Given the description of an element on the screen output the (x, y) to click on. 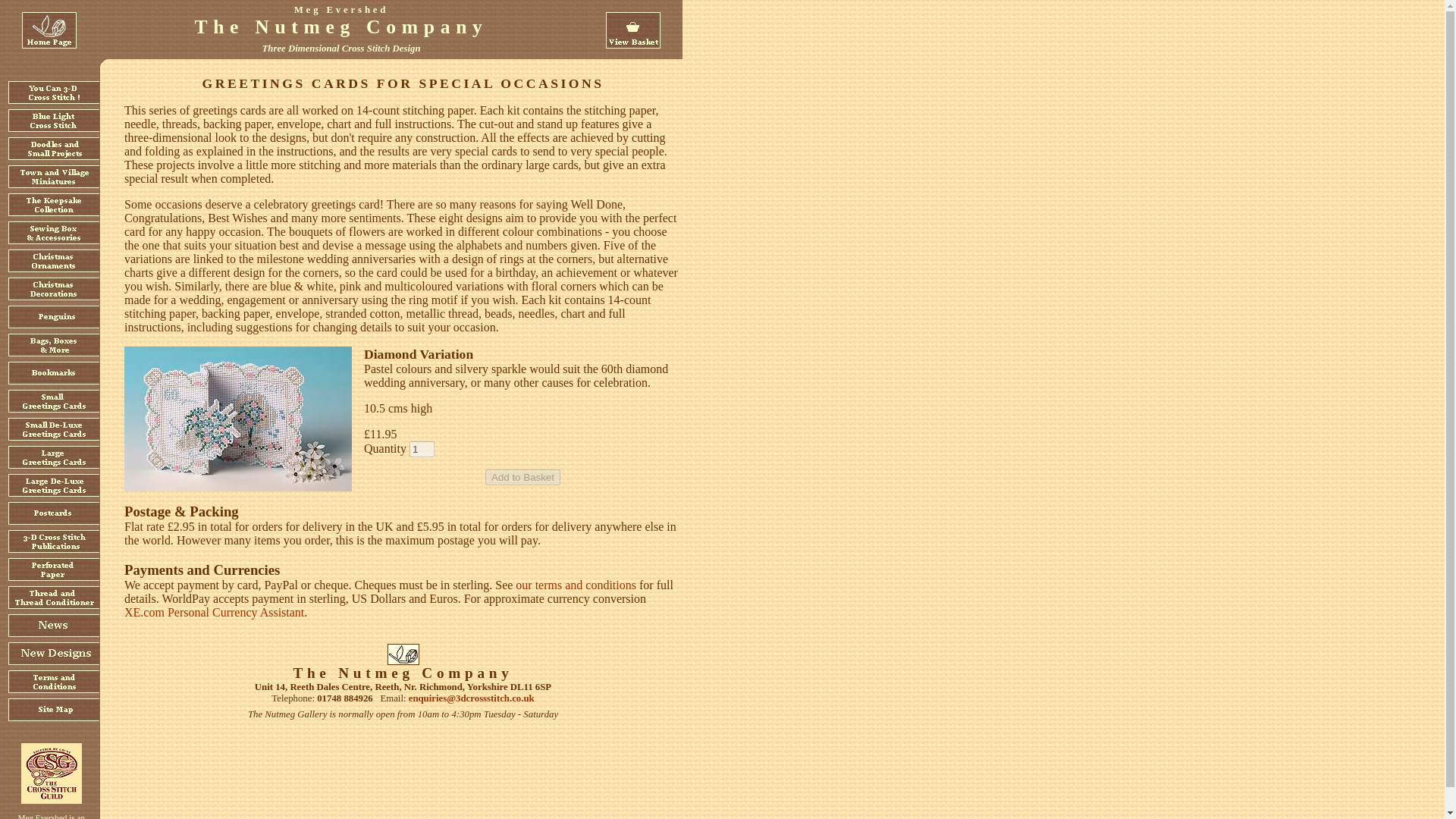
1 (421, 449)
XE.com Personal Currency Assistant (213, 612)
our terms and conditions (575, 584)
Add to Basket (522, 477)
